Given the description of an element on the screen output the (x, y) to click on. 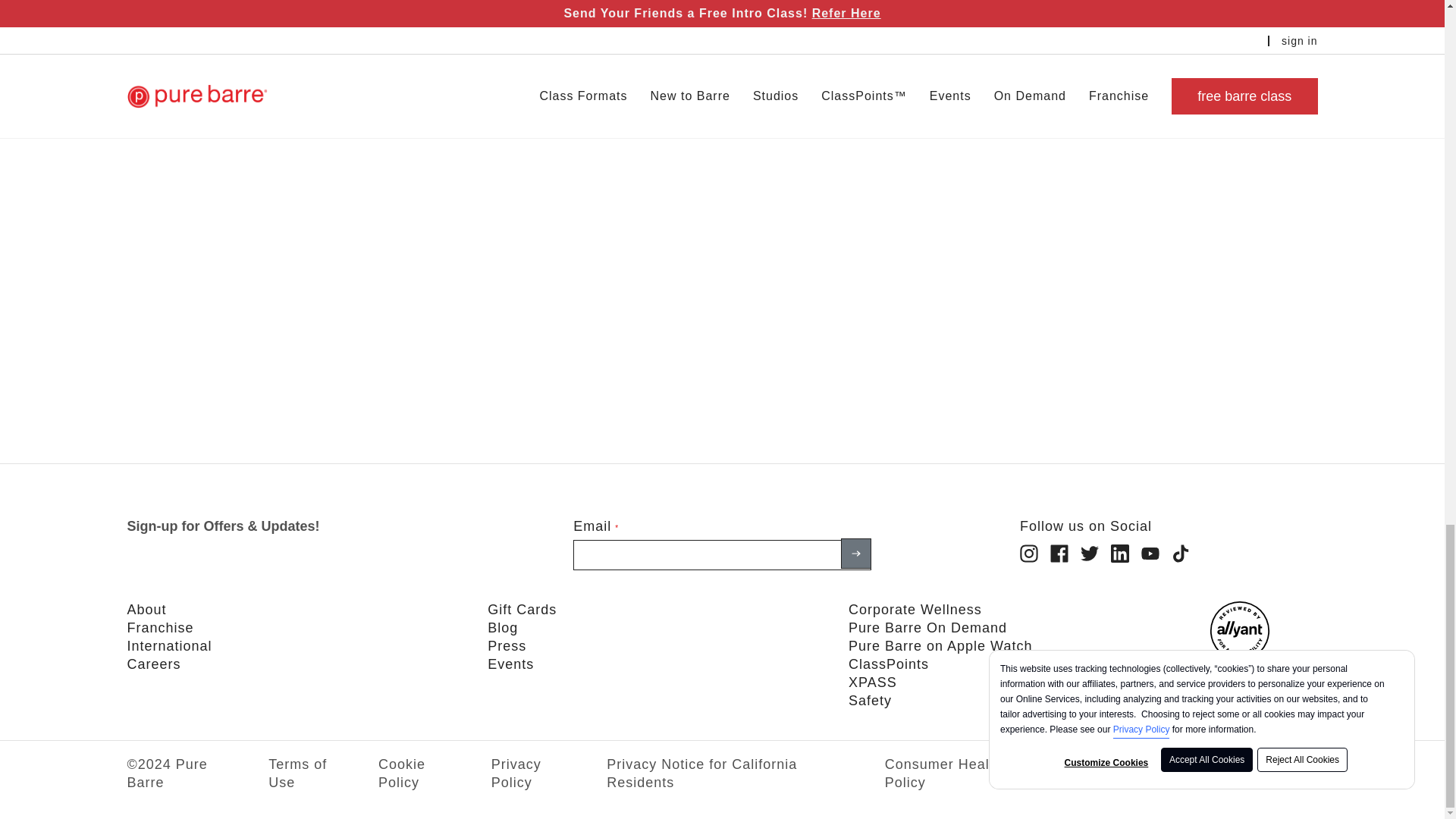
Send (855, 553)
